Given the description of an element on the screen output the (x, y) to click on. 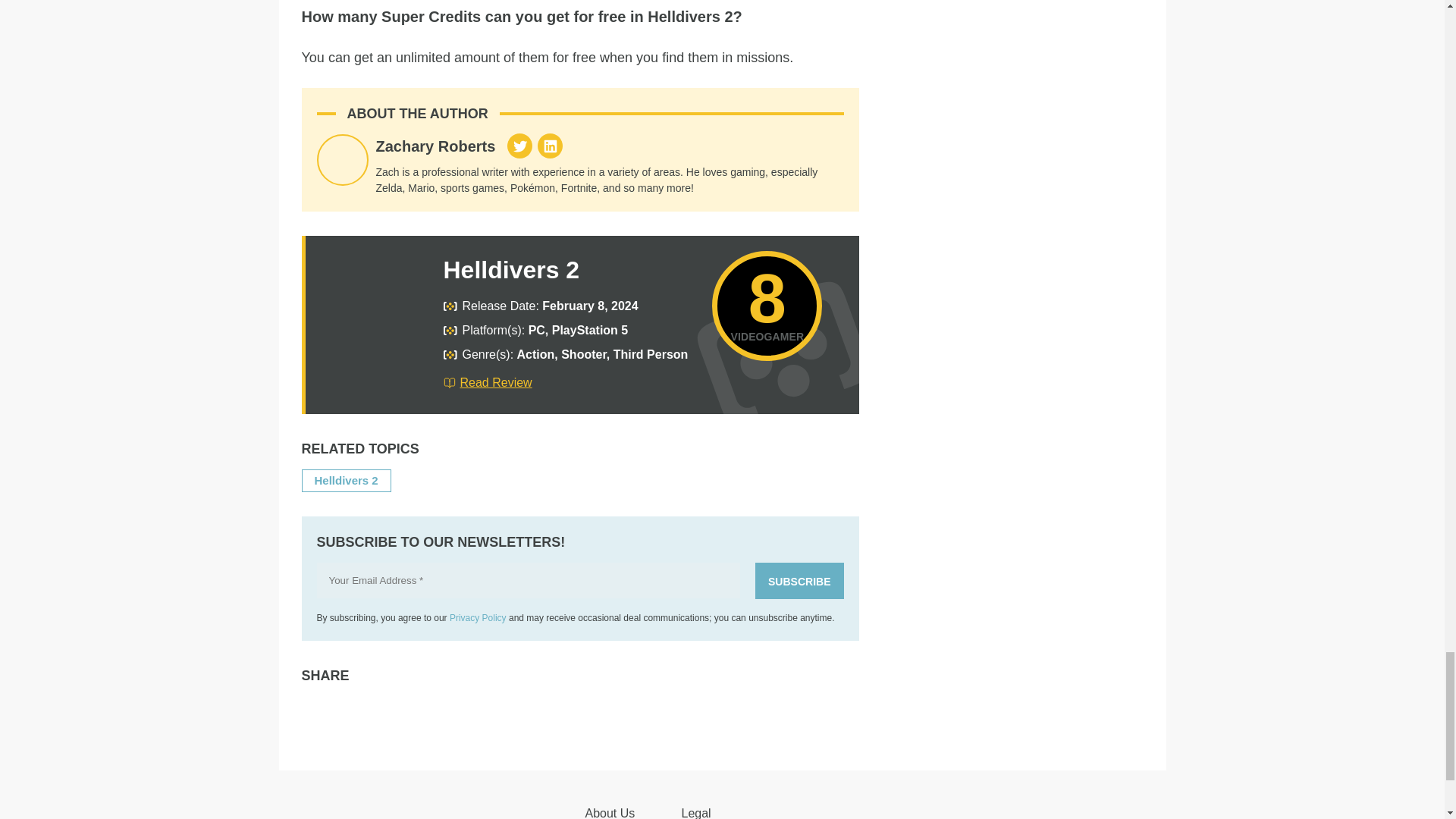
Subscribe (799, 580)
Helldivers 2 (510, 269)
Zachary Roberts (435, 146)
